Given the description of an element on the screen output the (x, y) to click on. 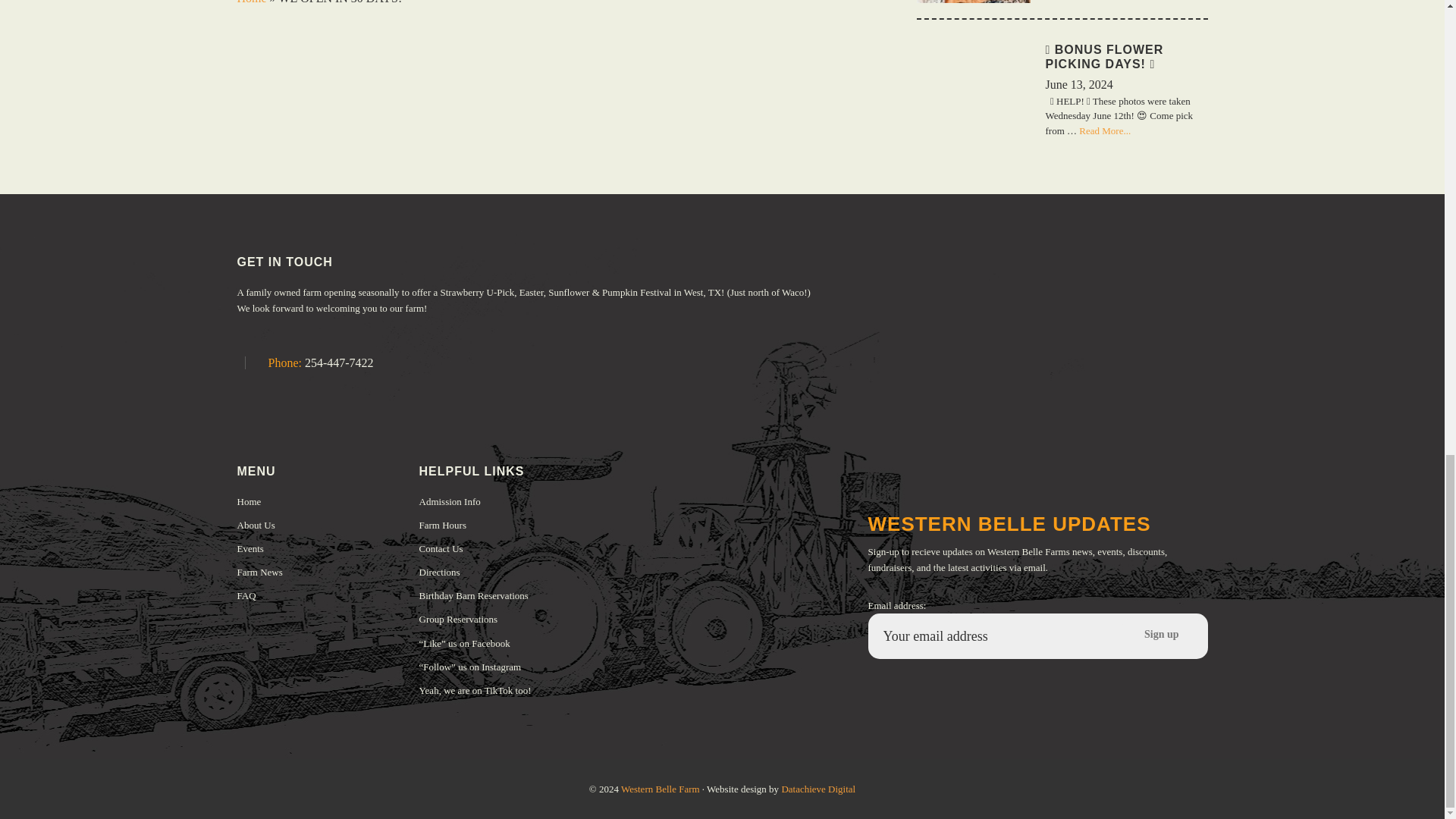
Sign up (1161, 634)
Home (250, 2)
